Given the description of an element on the screen output the (x, y) to click on. 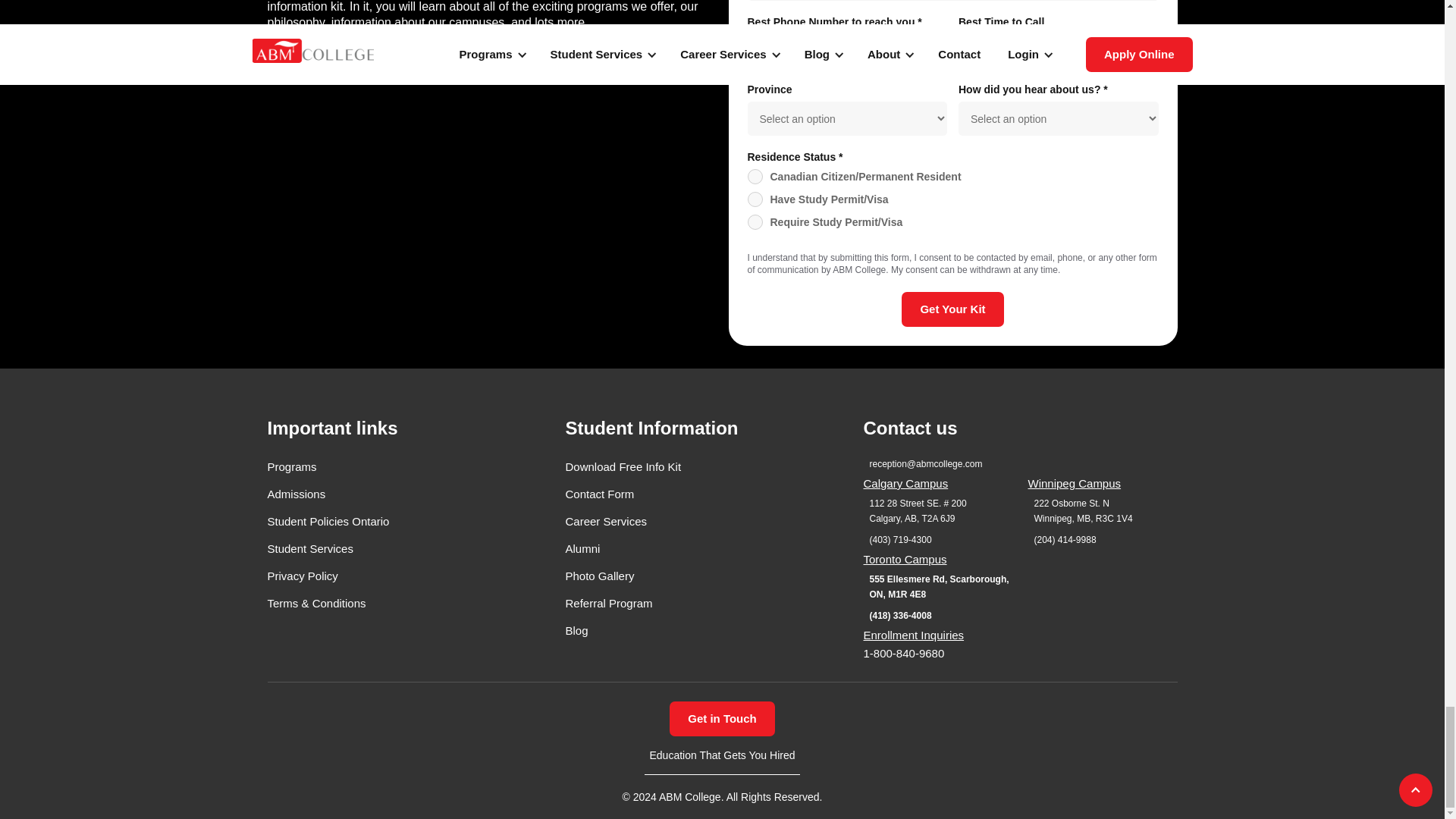
Get Your Kit (952, 308)
Have Study Permit (755, 199)
Require Study Permit (755, 222)
